Given the description of an element on the screen output the (x, y) to click on. 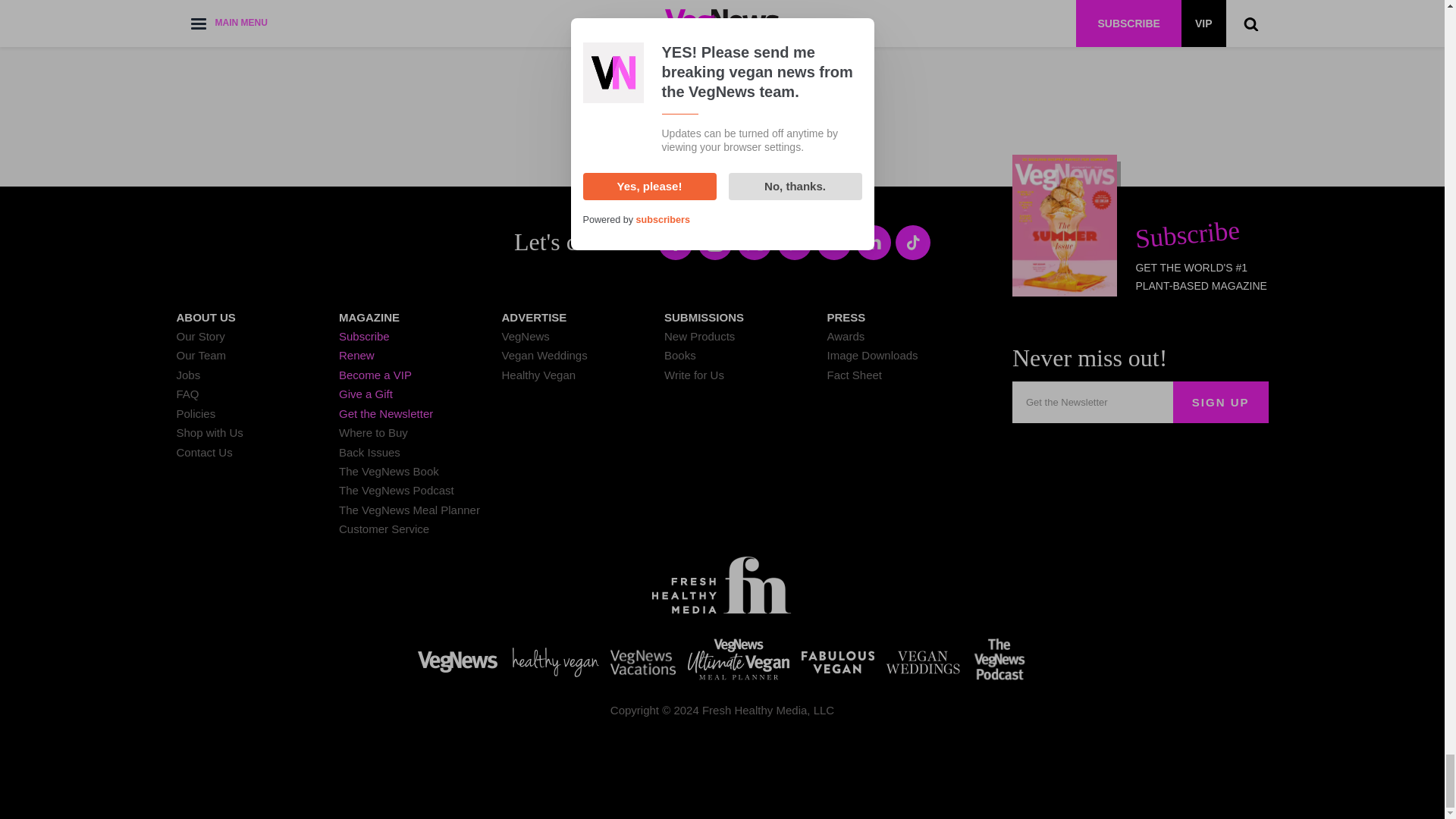
Sign Up (1220, 402)
